Given the description of an element on the screen output the (x, y) to click on. 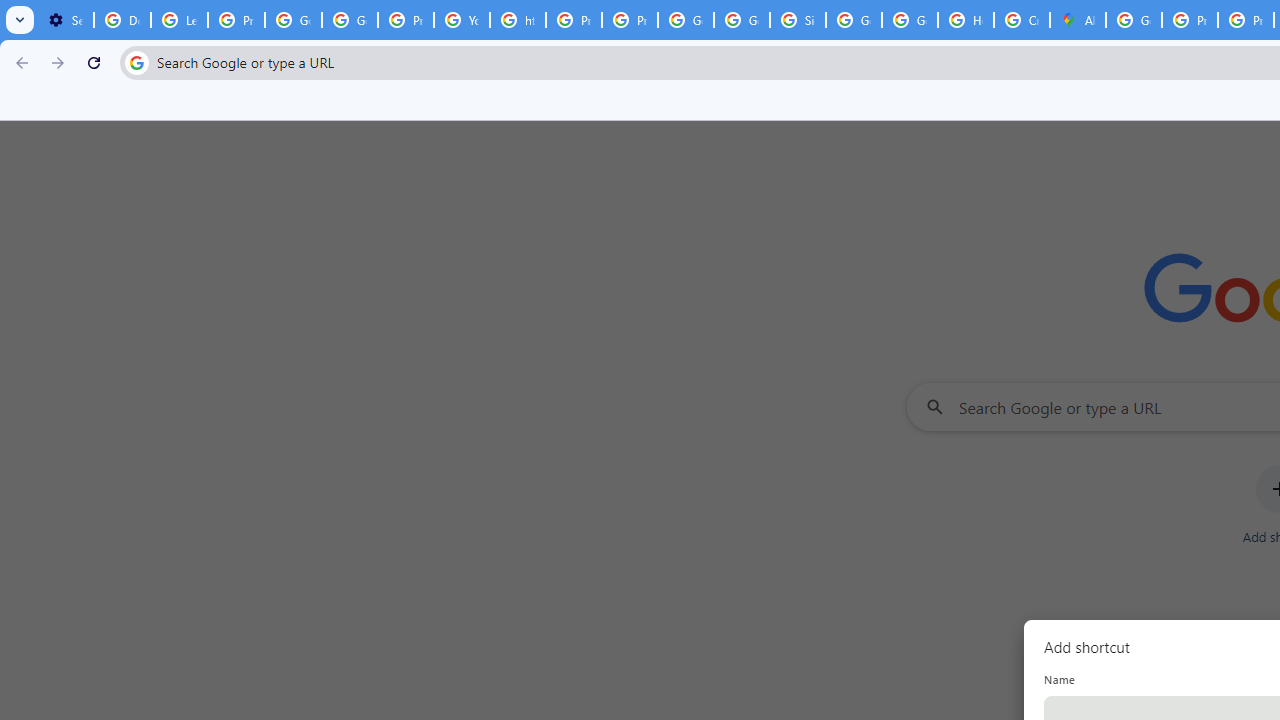
https://scholar.google.com/ (518, 20)
Create your Google Account (1021, 20)
Delete photos & videos - Computer - Google Photos Help (122, 20)
Sign in - Google Accounts (797, 20)
